Given the description of an element on the screen output the (x, y) to click on. 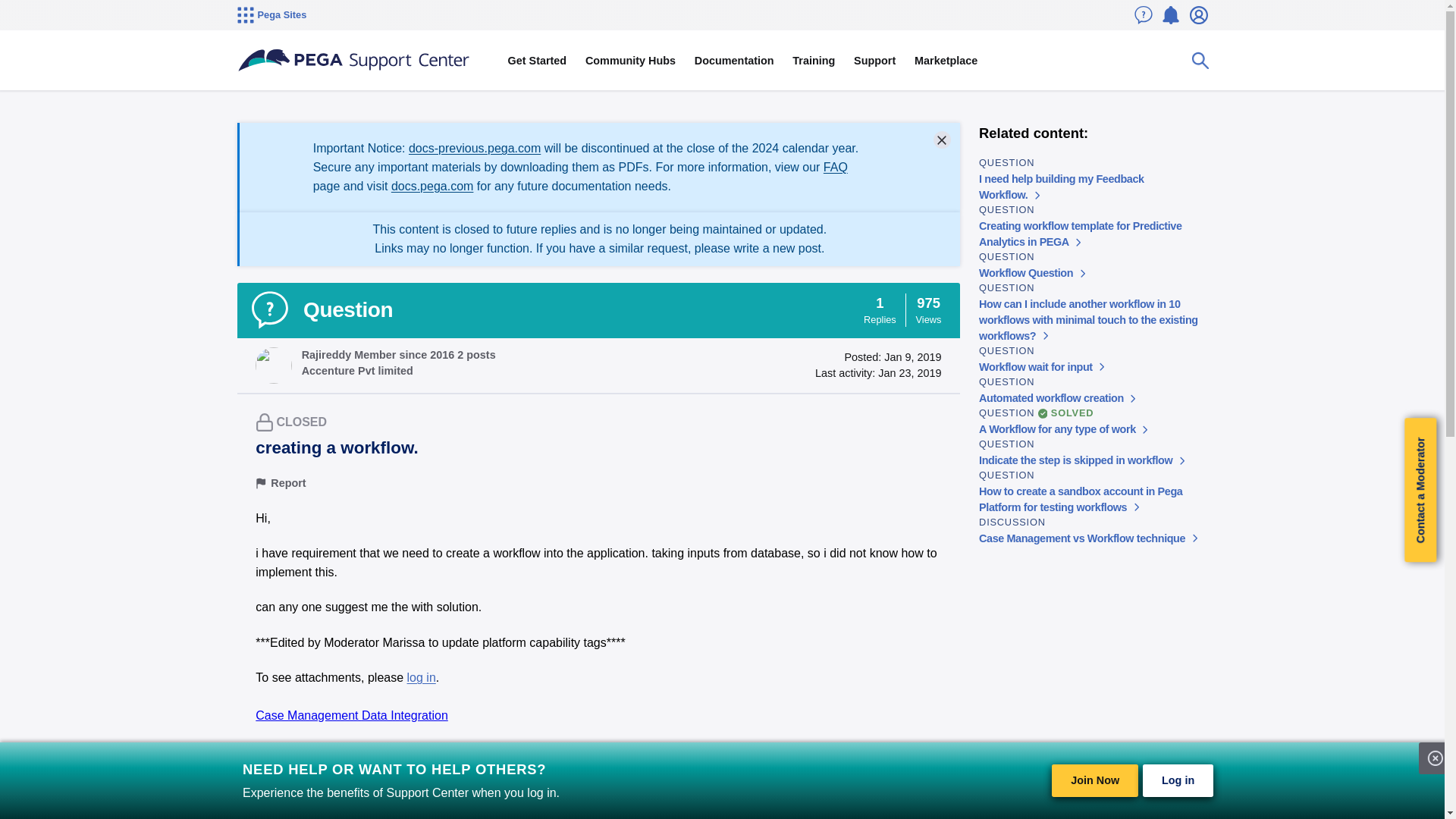
Toggle Search Panel (1200, 60)
Get Started (536, 60)
Community Hubs (630, 60)
